Given the description of an element on the screen output the (x, y) to click on. 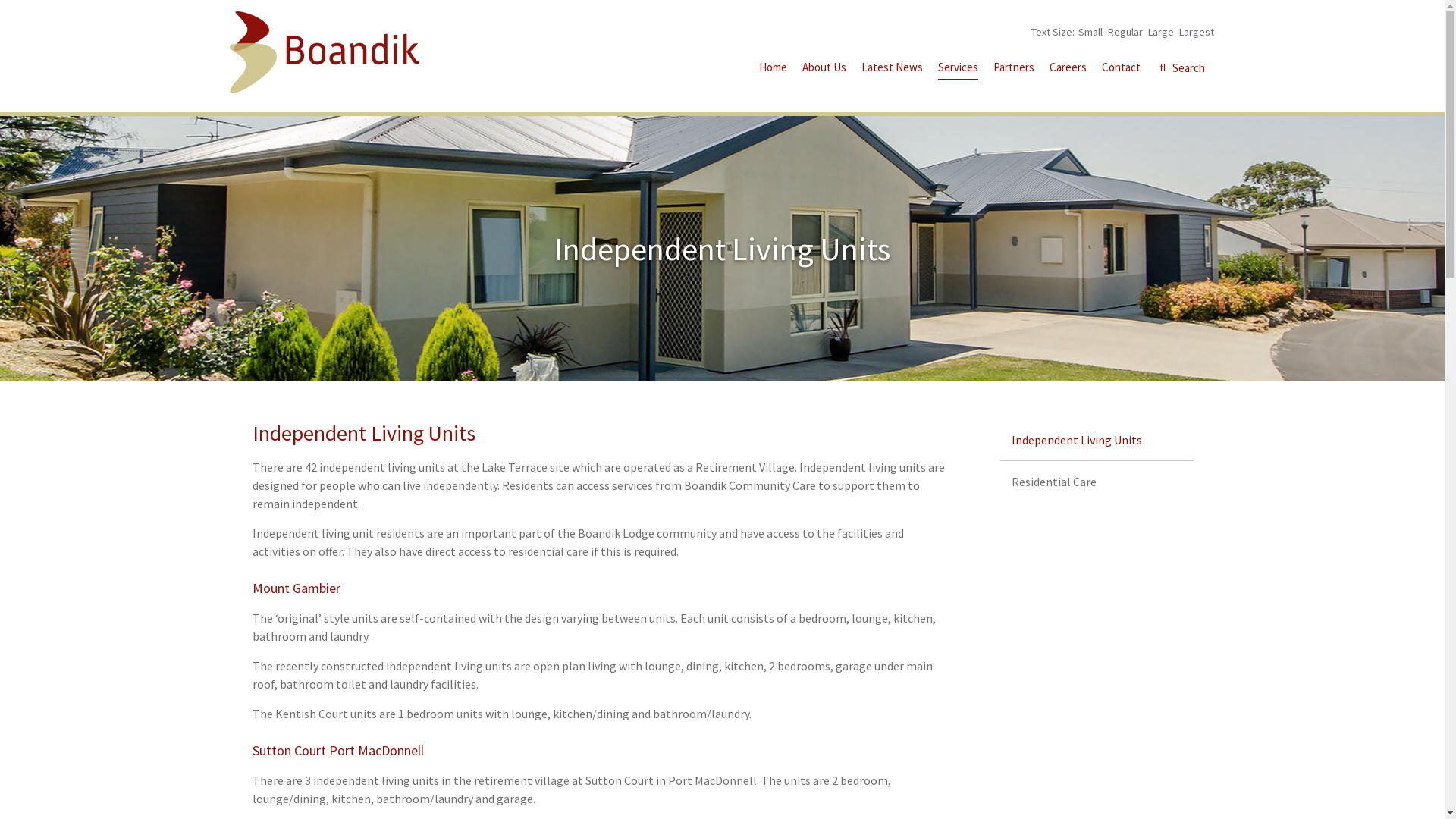
Contact Element type: text (1120, 68)
Independent Living Units Element type: text (1096, 439)
Careers Element type: text (1067, 68)
Partners Element type: text (1013, 68)
Home Element type: text (772, 68)
Services Element type: text (957, 69)
Latest News Element type: text (891, 68)
About Us Element type: text (824, 68)
Residential Care Element type: text (1096, 481)
Largest Element type: text (1195, 31)
Boandik Element type: hover (323, 52)
Regular Element type: text (1124, 31)
Large Element type: text (1160, 31)
Small Element type: text (1090, 31)
